Given the description of an element on the screen output the (x, y) to click on. 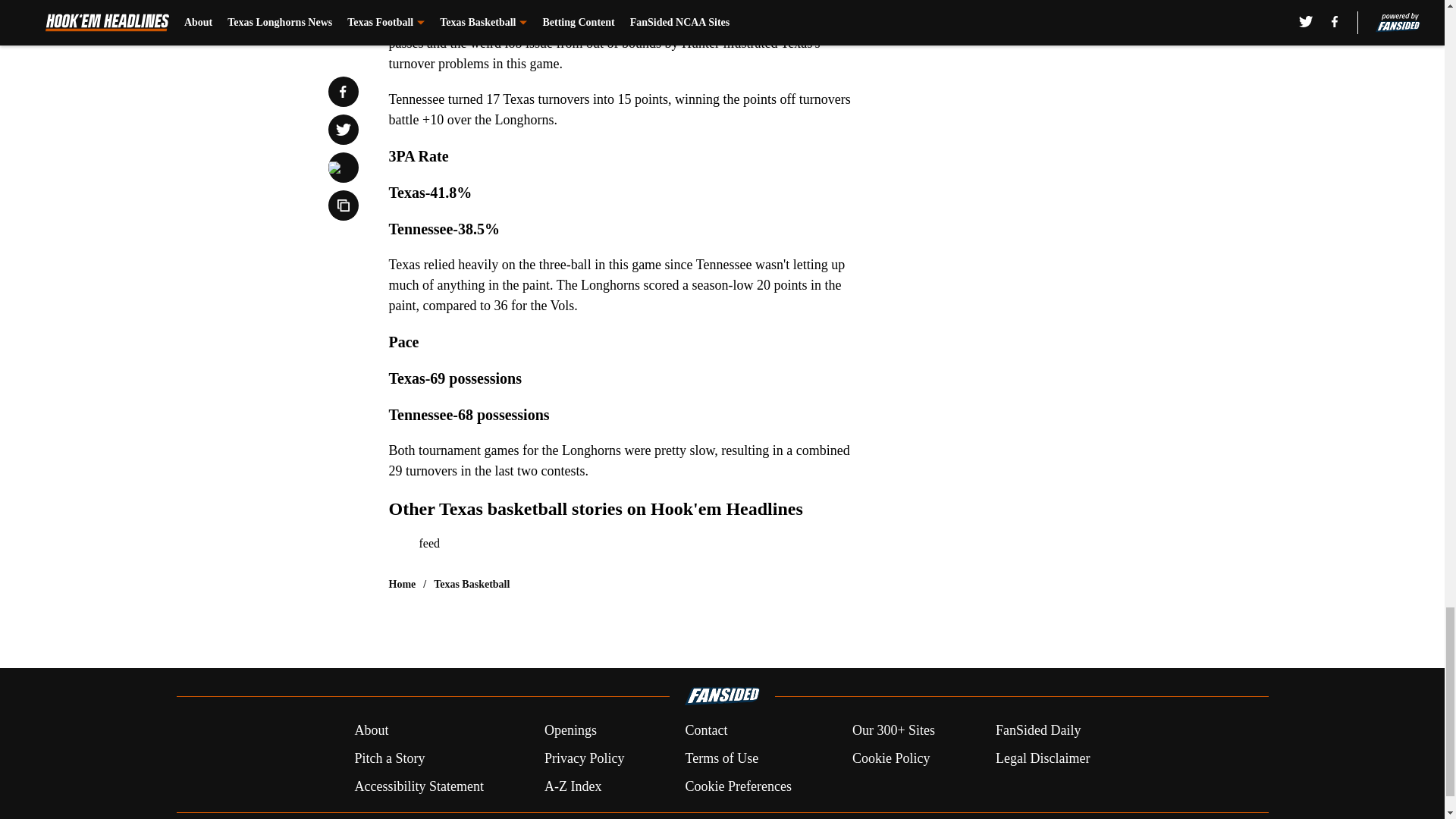
Contact (705, 730)
About (370, 730)
Accessibility Statement (418, 786)
Openings (570, 730)
Privacy Policy (584, 758)
Home (401, 584)
Legal Disclaimer (1042, 758)
Pitch a Story (389, 758)
Texas Basketball (471, 584)
Terms of Use (721, 758)
